Given the description of an element on the screen output the (x, y) to click on. 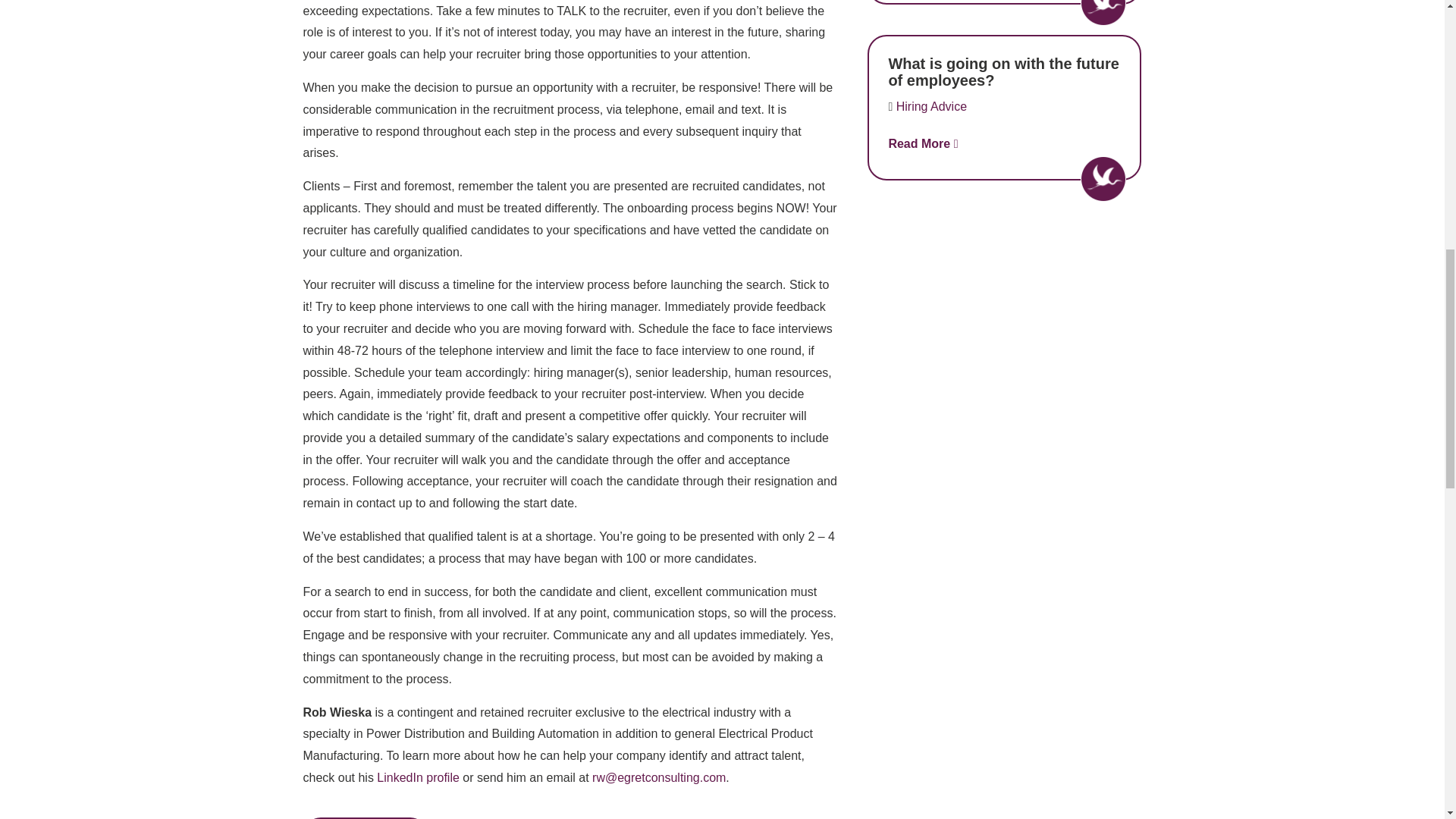
LinkedIn profile (418, 777)
Read More (923, 143)
What is going on with the future of employees?  (1003, 71)
Hiring Advice (931, 106)
